Given the description of an element on the screen output the (x, y) to click on. 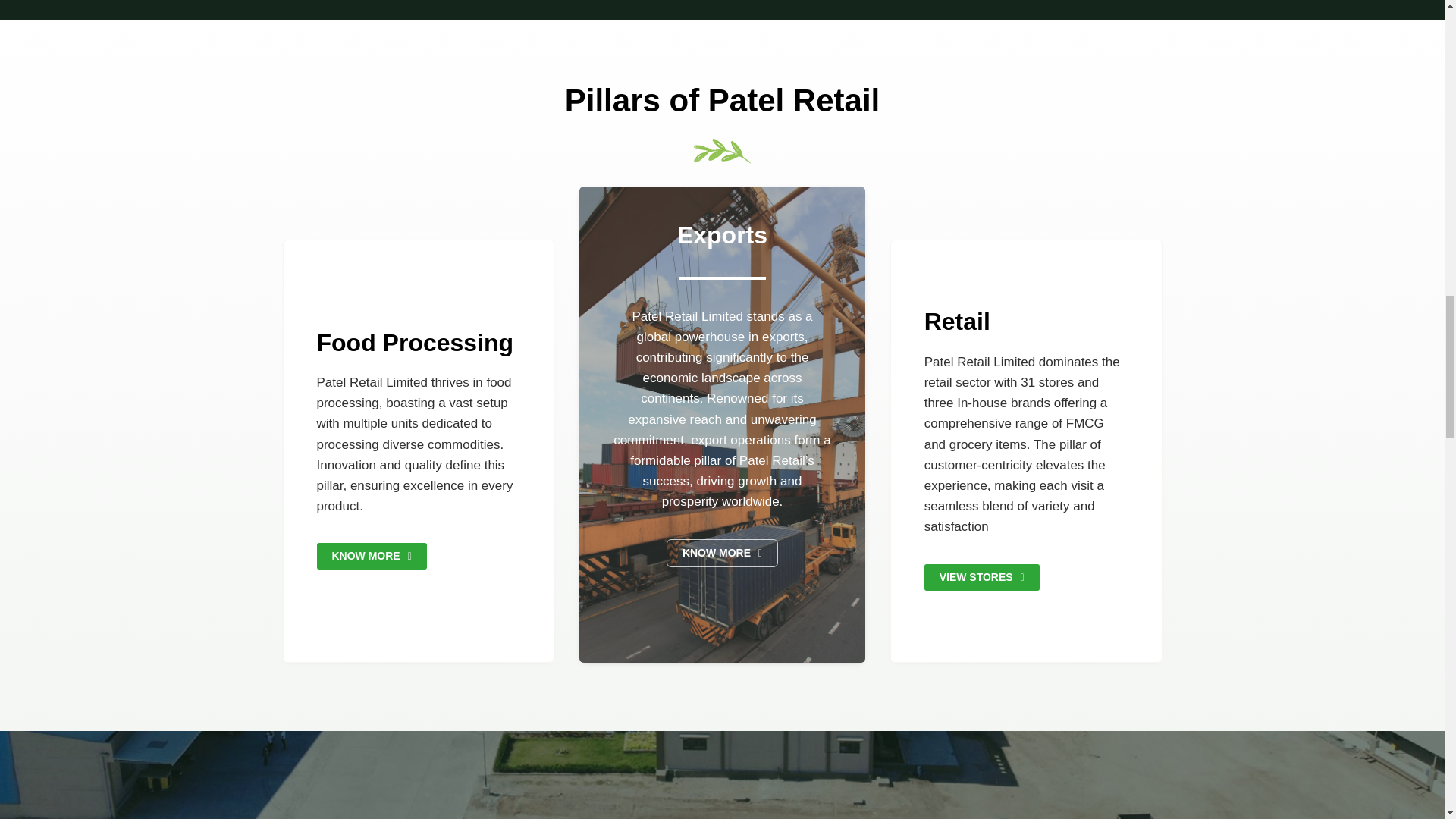
KNOW MORE (721, 552)
VIEW STORES (981, 577)
KNOW MORE (371, 555)
